Given the description of an element on the screen output the (x, y) to click on. 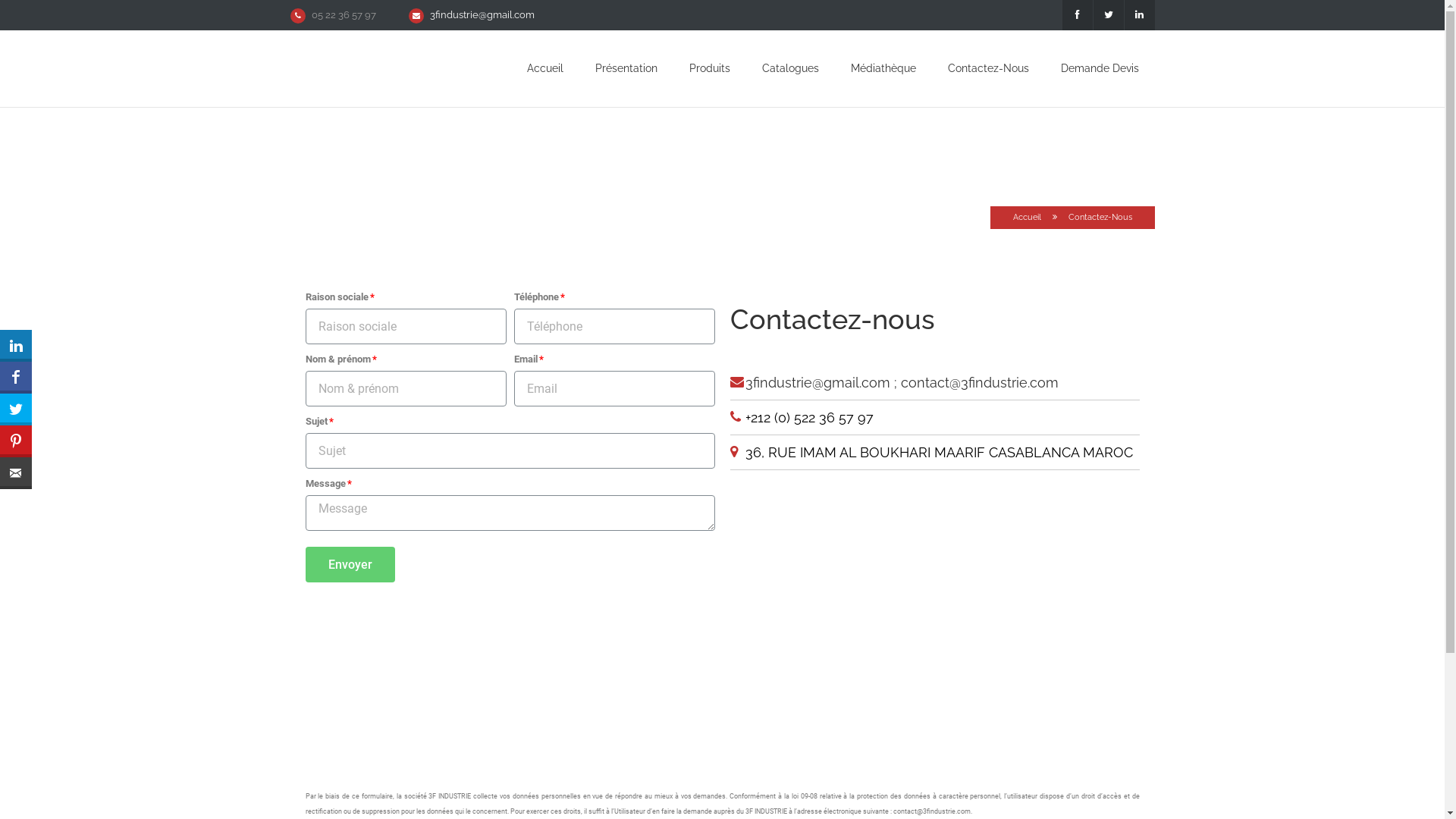
Share on Email Element type: hover (15, 473)
Share on Pinterest Element type: hover (15, 441)
Accueil Element type: text (1027, 217)
3findustrie@gmail.com Element type: text (481, 14)
Catalogues Element type: text (789, 68)
3F INDUSTRIE Element type: hover (934, 614)
Produits Element type: text (708, 68)
Demande Devis Element type: text (1099, 68)
Share on Facebook Element type: hover (15, 377)
Share on Twitter Element type: hover (15, 409)
Envoyer Element type: text (349, 564)
Accueil Element type: text (544, 68)
Share on LinkedIn Element type: hover (15, 345)
Contactez-Nous Element type: text (988, 68)
3findustrie@gmail.com ; contact@3findustrie.com Element type: text (900, 382)
